Given the description of an element on the screen output the (x, y) to click on. 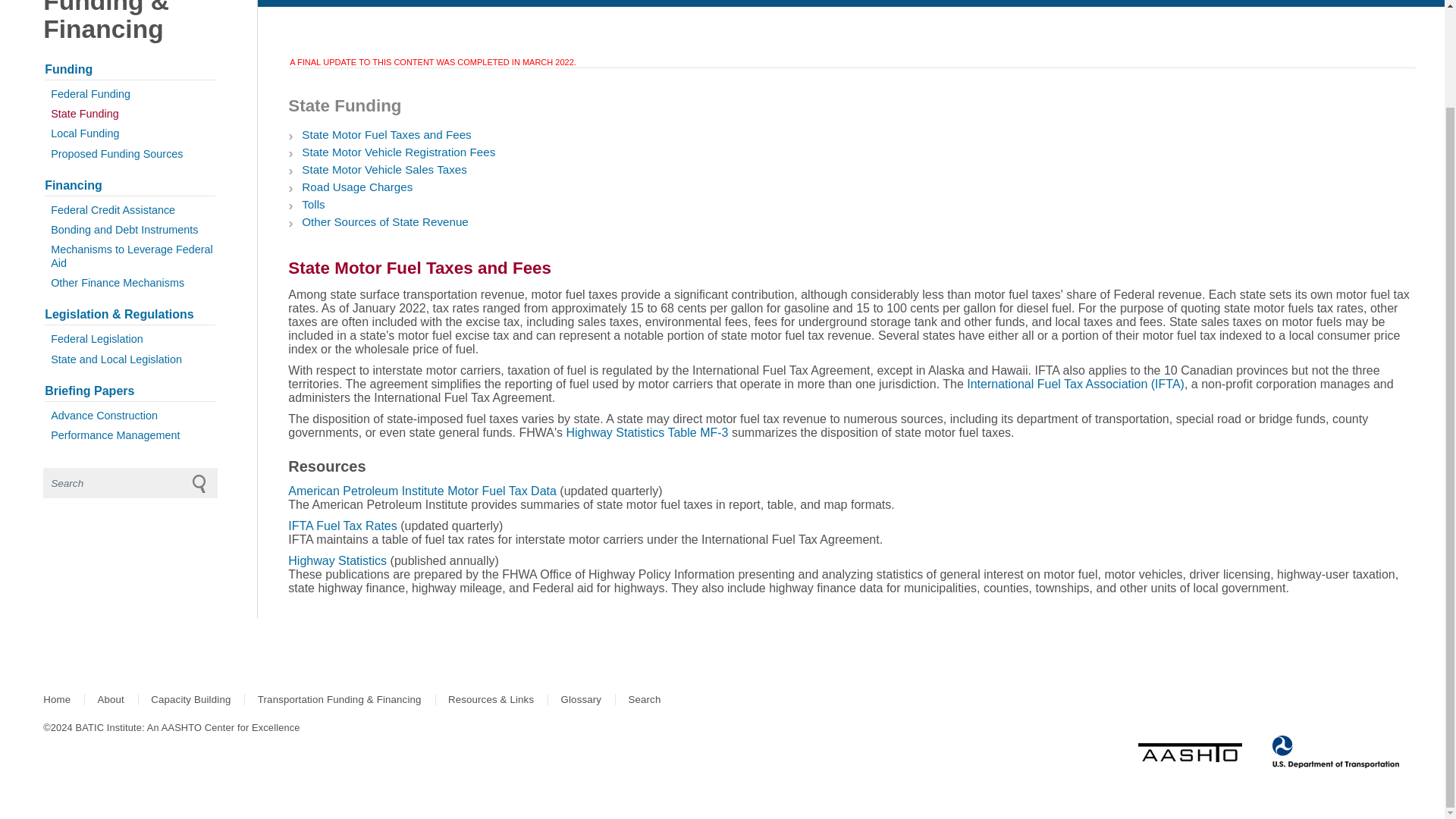
State and Local Legislation (130, 359)
Other Sources of State Revenue (384, 221)
Road Usage Charges (356, 186)
Briefing Papers (130, 391)
Federal Legislation (130, 338)
Proposed Funding Sources (130, 153)
Search (129, 482)
Tolls (312, 204)
Mechanisms to Leverage Federal Aid (130, 255)
Highway Statistics Table MF-3 (647, 431)
